Given the description of an element on the screen output the (x, y) to click on. 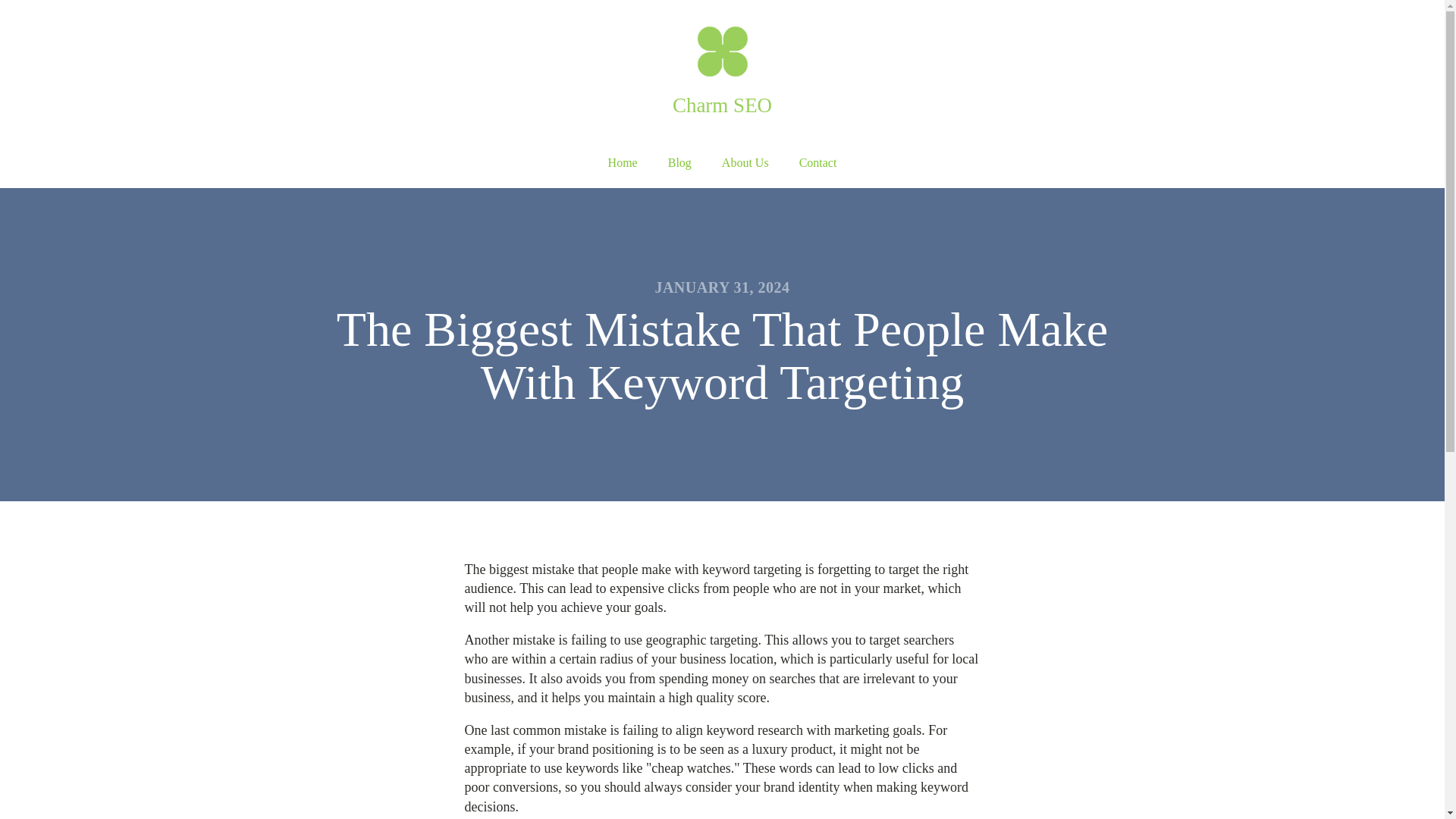
About Us (745, 163)
Contact (817, 163)
Home (622, 163)
Blog (679, 163)
